Given the description of an element on the screen output the (x, y) to click on. 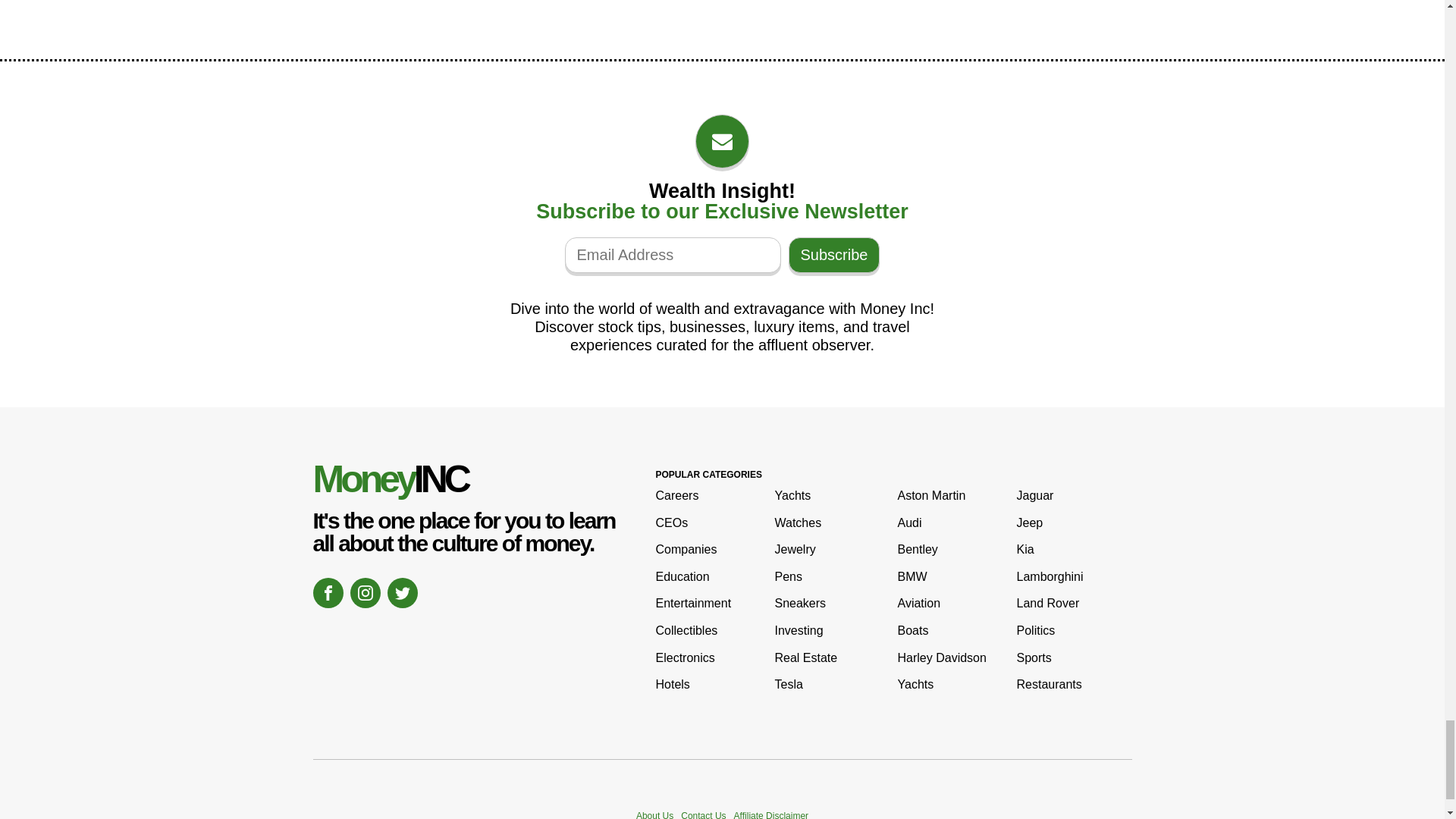
Subscribe (834, 254)
